Given the description of an element on the screen output the (x, y) to click on. 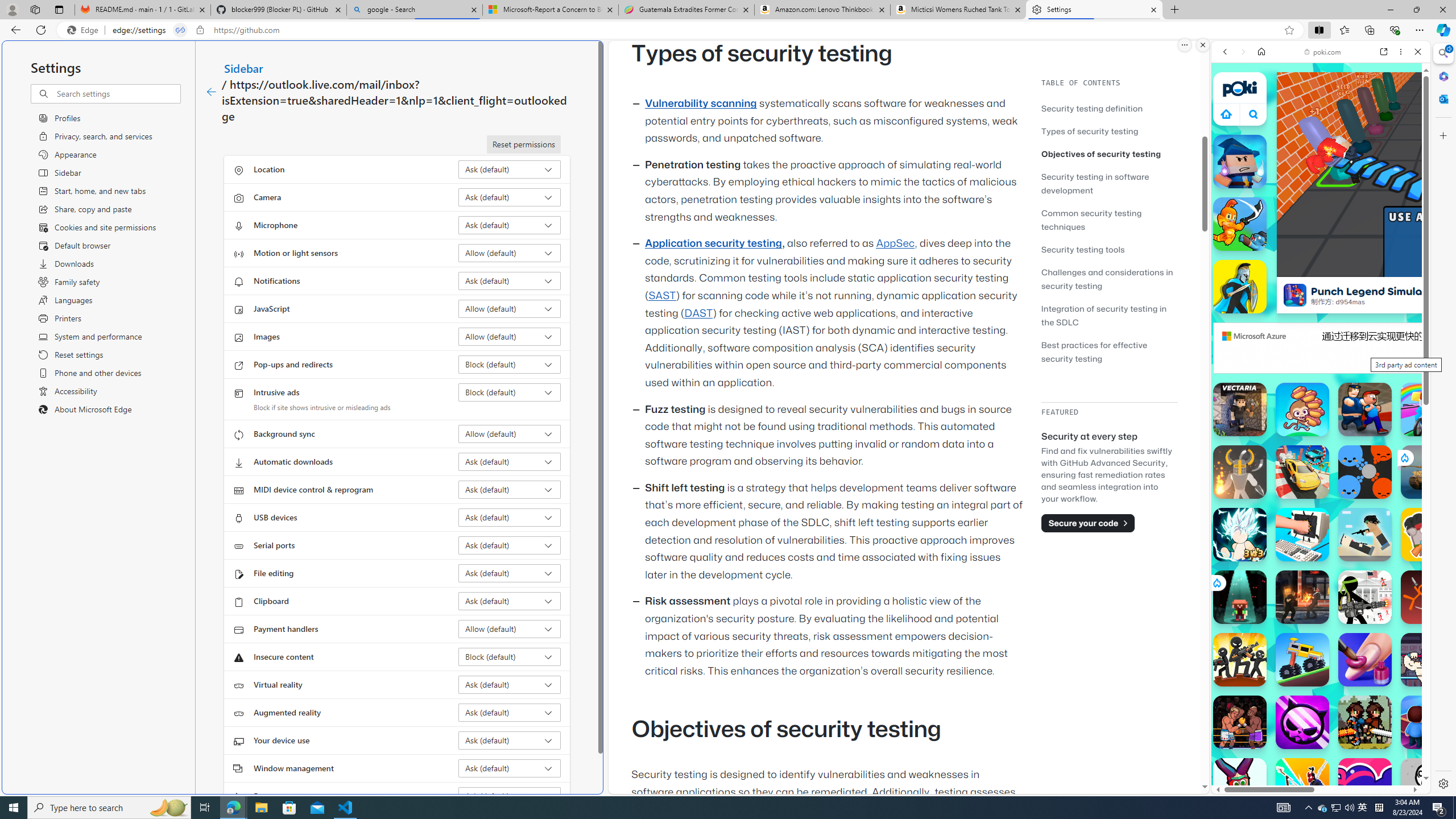
Challenges and considerations in security testing (1109, 279)
MicroWars (1364, 471)
JavaScript Allow (default) (509, 308)
My Perfect Hotel My Perfect Hotel (1427, 722)
Vectaria.io (1239, 409)
Microphone Ask (default) (509, 225)
Rooftop Snipers Rooftop Snipers (1364, 534)
MicroWars MicroWars (1364, 471)
